Given the description of an element on the screen output the (x, y) to click on. 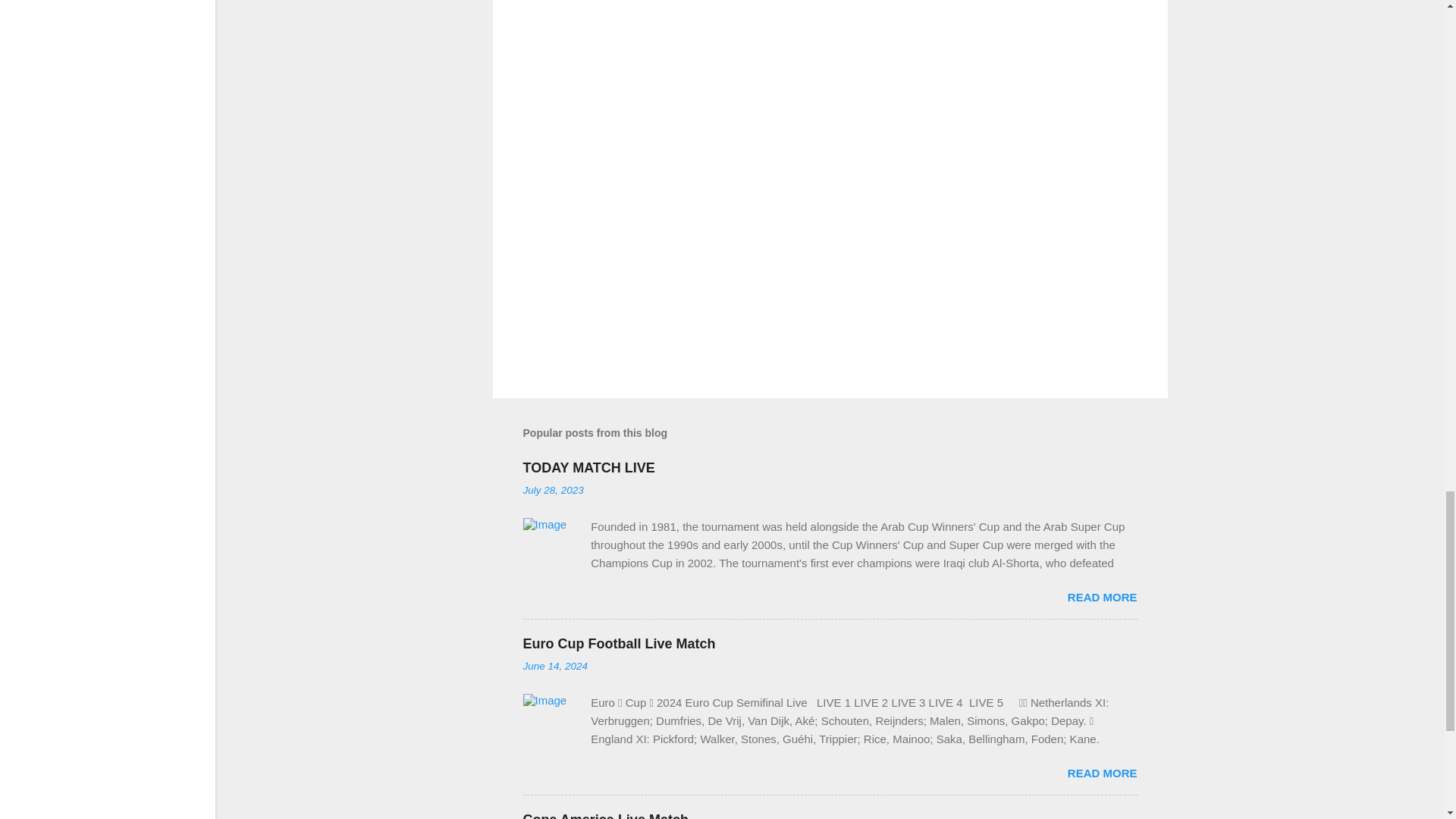
Euro Cup Football Live Match (619, 643)
June 14, 2024 (555, 665)
July 28, 2023 (552, 490)
TODAY MATCH LIVE (588, 467)
permanent link (552, 490)
READ MORE (1102, 772)
Copa America Live Match (605, 815)
READ MORE (1102, 596)
